Given the description of an element on the screen output the (x, y) to click on. 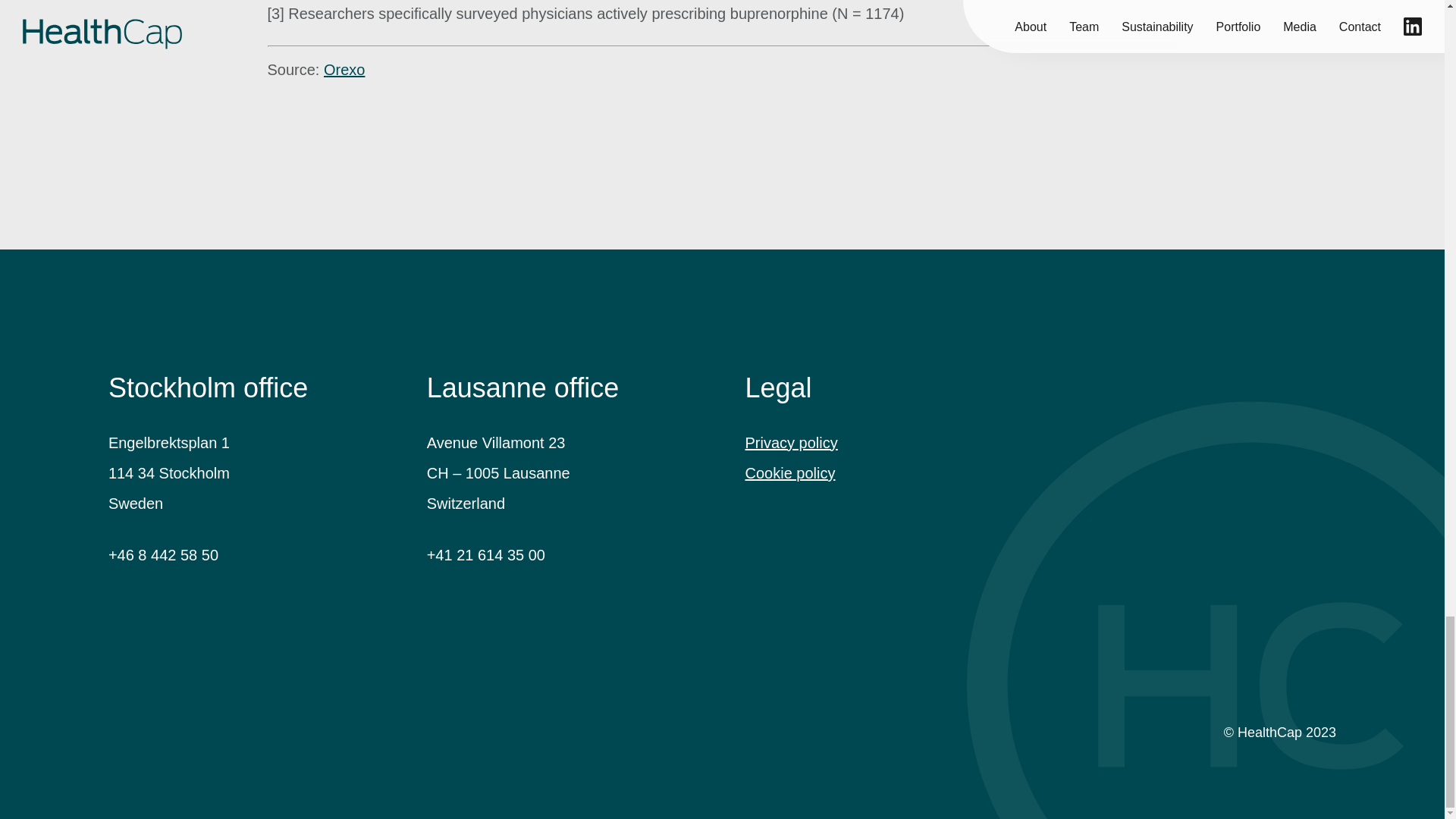
Privacy policy (790, 442)
Orexo (344, 69)
Cookie policy (789, 473)
